Given the description of an element on the screen output the (x, y) to click on. 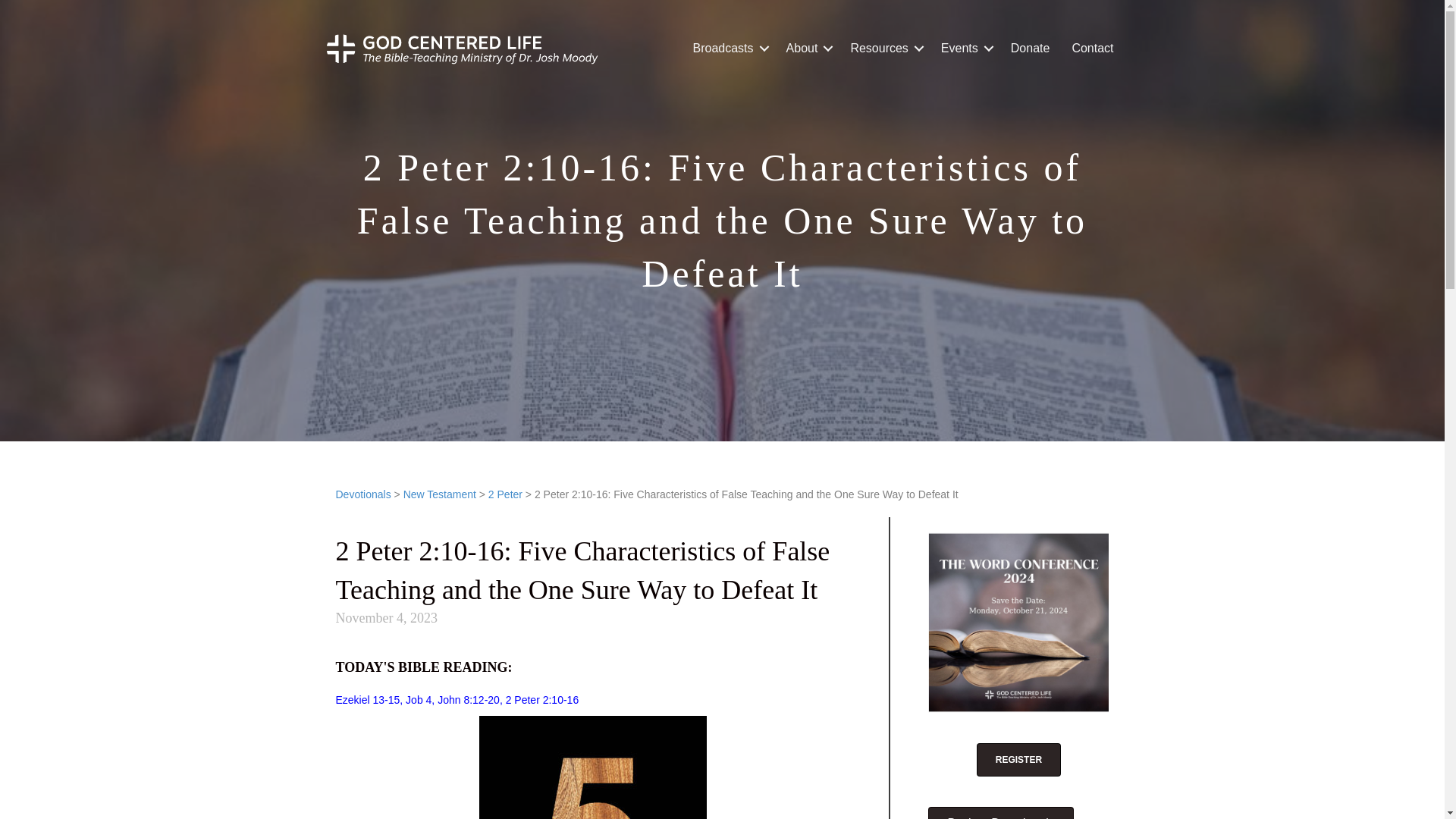
Contact (1092, 48)
About (808, 48)
New Testament (439, 494)
Ezekiel 13-15 (366, 699)
Go to the 2 Peter category archives. (504, 494)
Go to the Devotionals category archives. (362, 494)
REGISTER (1018, 759)
2 Peter (504, 494)
Go to the New Testament category archives. (439, 494)
Back to Devotionals (1000, 812)
Events (964, 48)
Donate (1030, 48)
GCL-Logo-03 (461, 48)
Job 4 (418, 699)
Resources (884, 48)
